Given the description of an element on the screen output the (x, y) to click on. 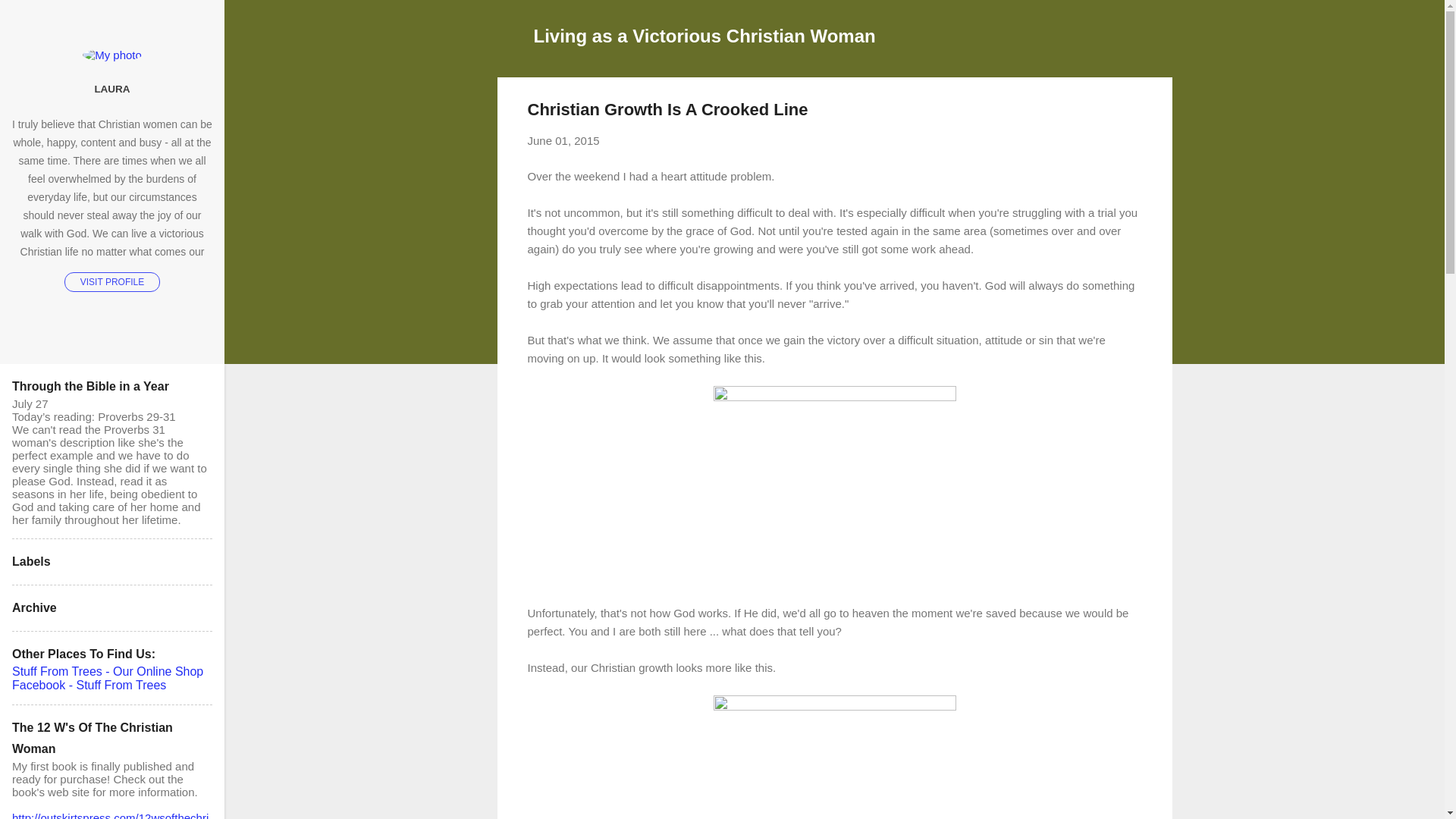
LAURA (112, 88)
June 01, 2015 (563, 140)
permanent link (563, 140)
Living as a Victorious Christian Woman (705, 35)
Search (29, 18)
VISIT PROFILE (112, 281)
